Given the description of an element on the screen output the (x, y) to click on. 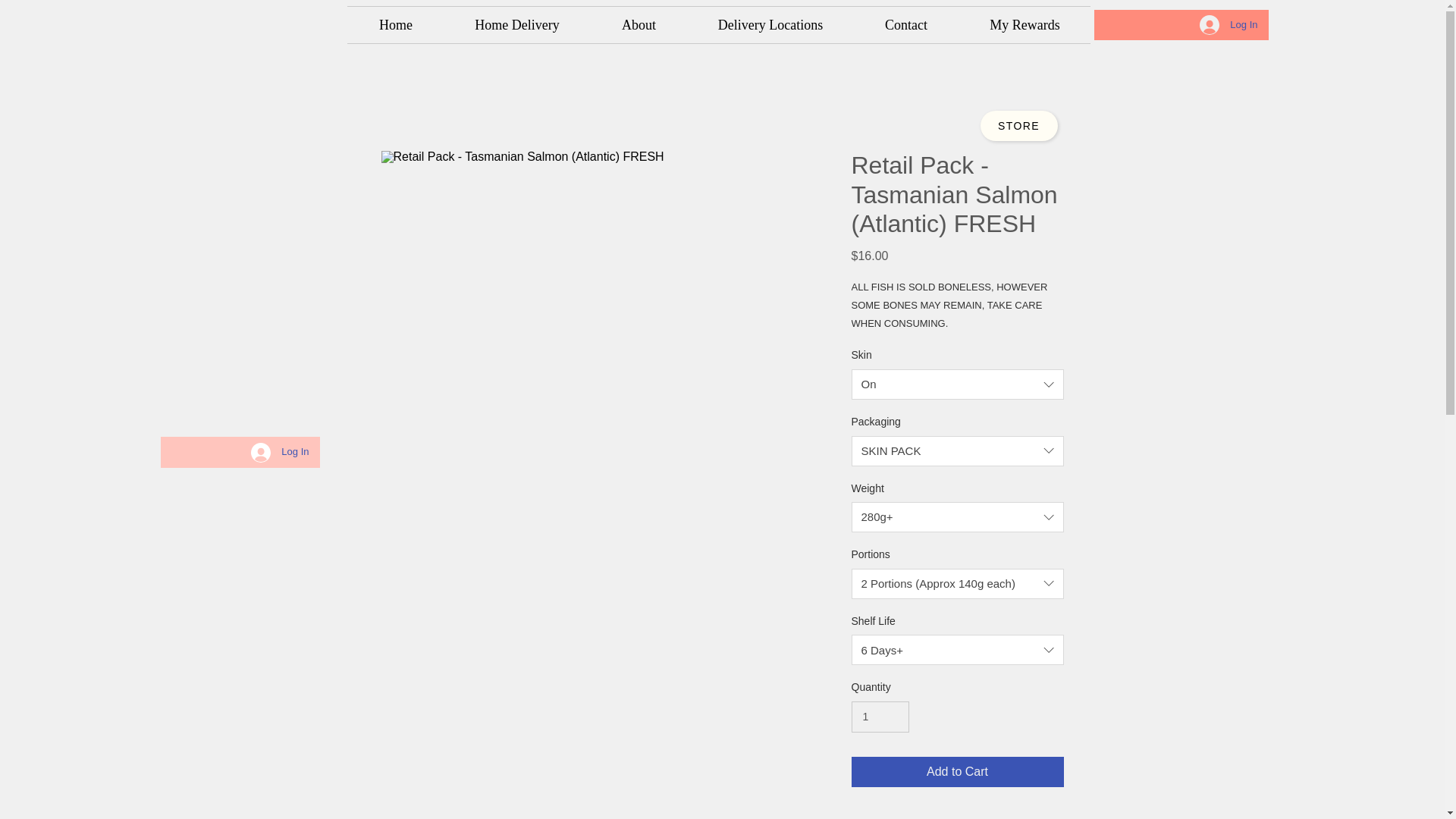
Contact (905, 24)
My Rewards (1024, 24)
Add to Cart (956, 771)
About (638, 24)
On (956, 384)
SKIN PACK (956, 450)
Log In (1228, 24)
Log In (279, 452)
Delivery Locations (770, 24)
Home Delivery (516, 24)
